Given the description of an element on the screen output the (x, y) to click on. 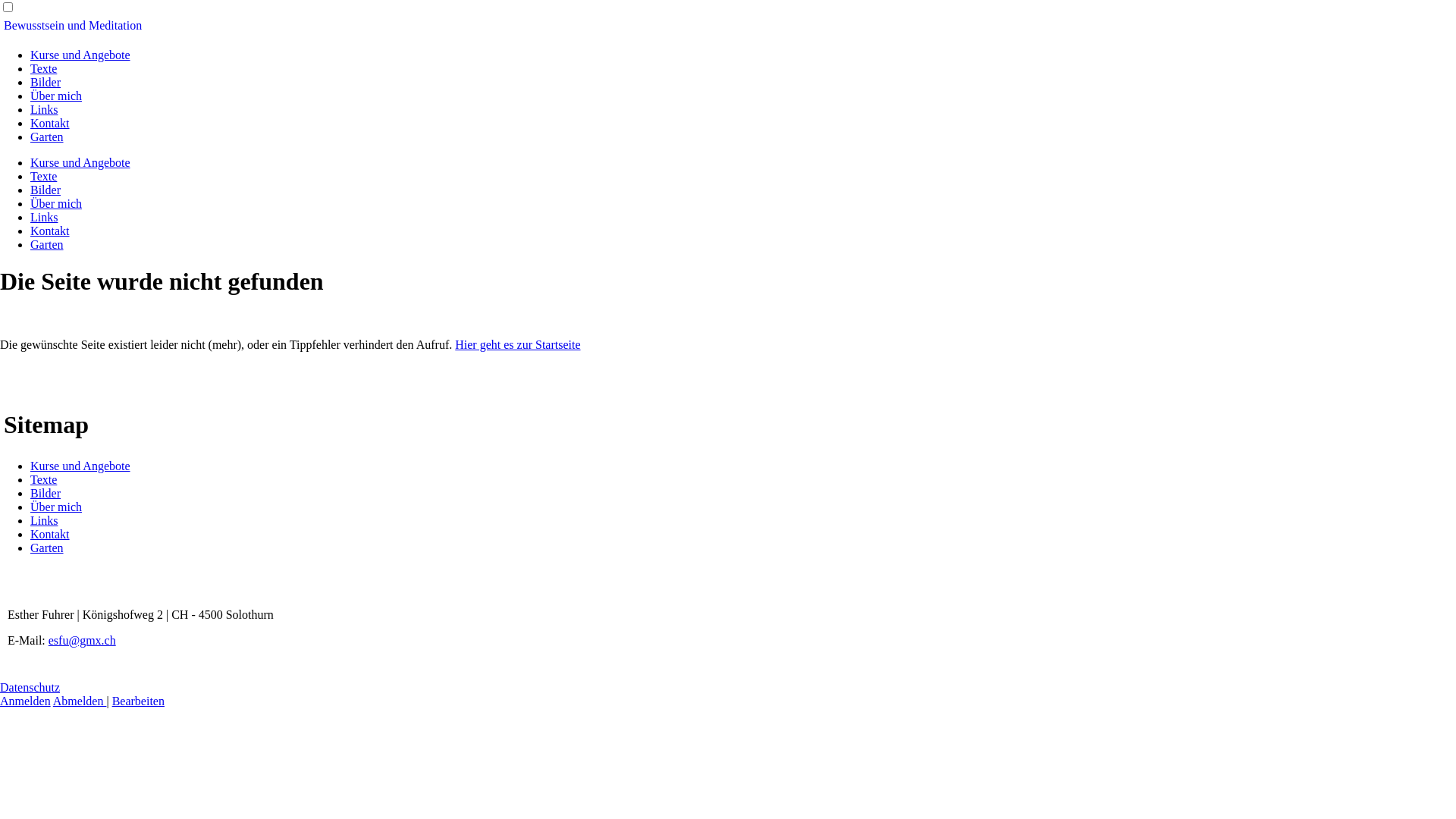
Kontakt Element type: text (49, 533)
esfu@gmx.ch Element type: text (82, 639)
Links Element type: text (43, 109)
Garten Element type: text (46, 547)
Kurse und Angebote Element type: text (80, 54)
Bilder Element type: text (45, 189)
Bilder Element type: text (45, 492)
Bewusstsein und Meditation Element type: text (72, 24)
Kontakt Element type: text (49, 230)
Bilder Element type: text (45, 81)
Kurse und Angebote Element type: text (80, 162)
Kurse und Angebote Element type: text (80, 465)
Hier geht es zur Startseite Element type: text (517, 344)
Bearbeiten Element type: text (138, 700)
Datenschutz Element type: text (29, 686)
Garten Element type: text (46, 136)
Abmelden Element type: text (79, 700)
Kontakt Element type: text (49, 122)
Texte Element type: text (43, 68)
Garten Element type: text (46, 244)
Links Element type: text (43, 216)
Texte Element type: text (43, 479)
Texte Element type: text (43, 175)
Links Element type: text (43, 520)
Anmelden Element type: text (25, 700)
